Given the description of an element on the screen output the (x, y) to click on. 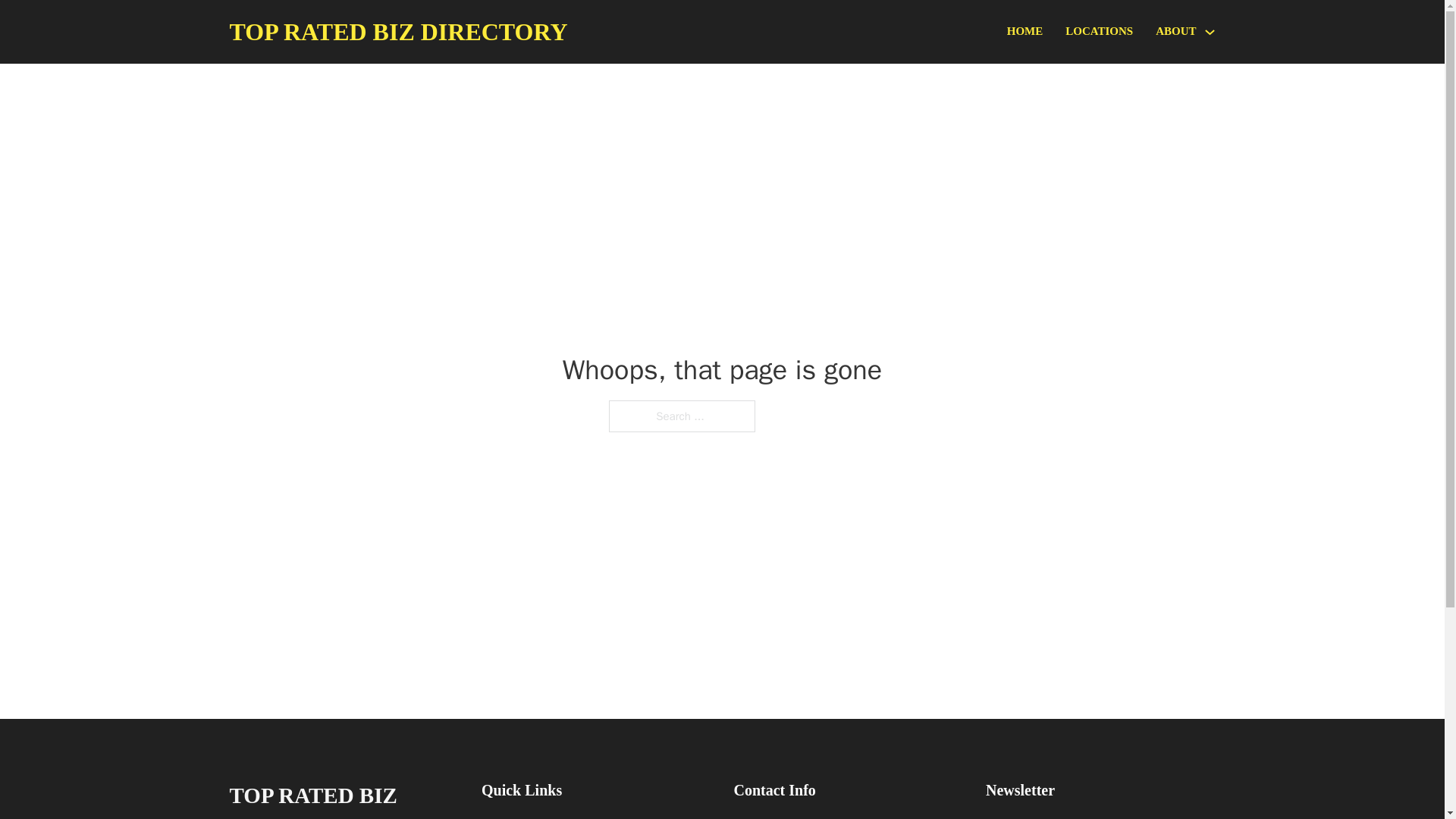
HOME (1025, 31)
TOP RATED BIZ DIRECTORY (397, 31)
TOP RATED BIZ DIRECTORY (343, 798)
LOCATIONS (1098, 31)
